Given the description of an element on the screen output the (x, y) to click on. 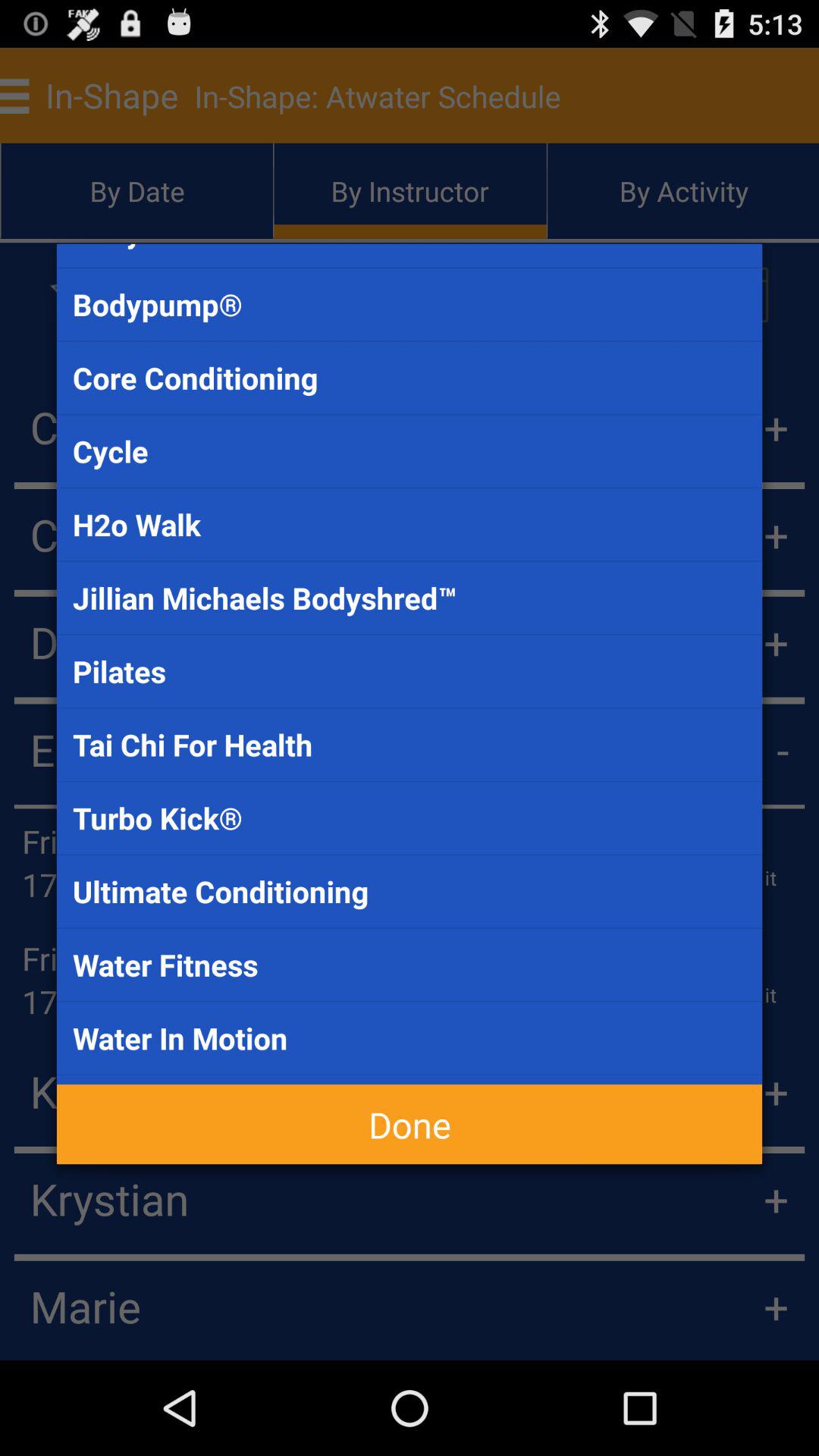
select item above the water in motion icon (409, 964)
